Given the description of an element on the screen output the (x, y) to click on. 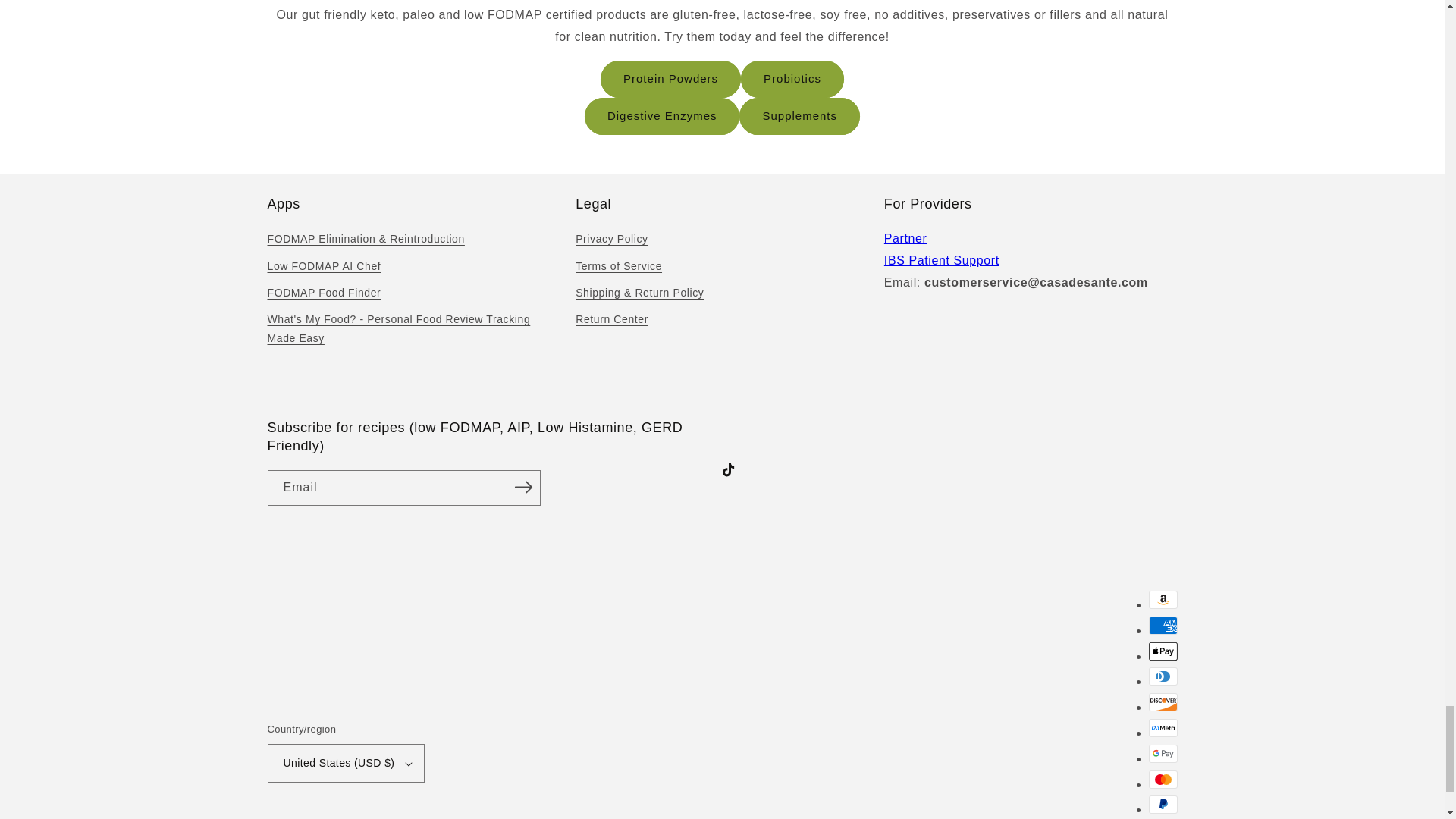
IBS Support (940, 259)
American Express (1162, 625)
Amazon (1162, 599)
